Given the description of an element on the screen output the (x, y) to click on. 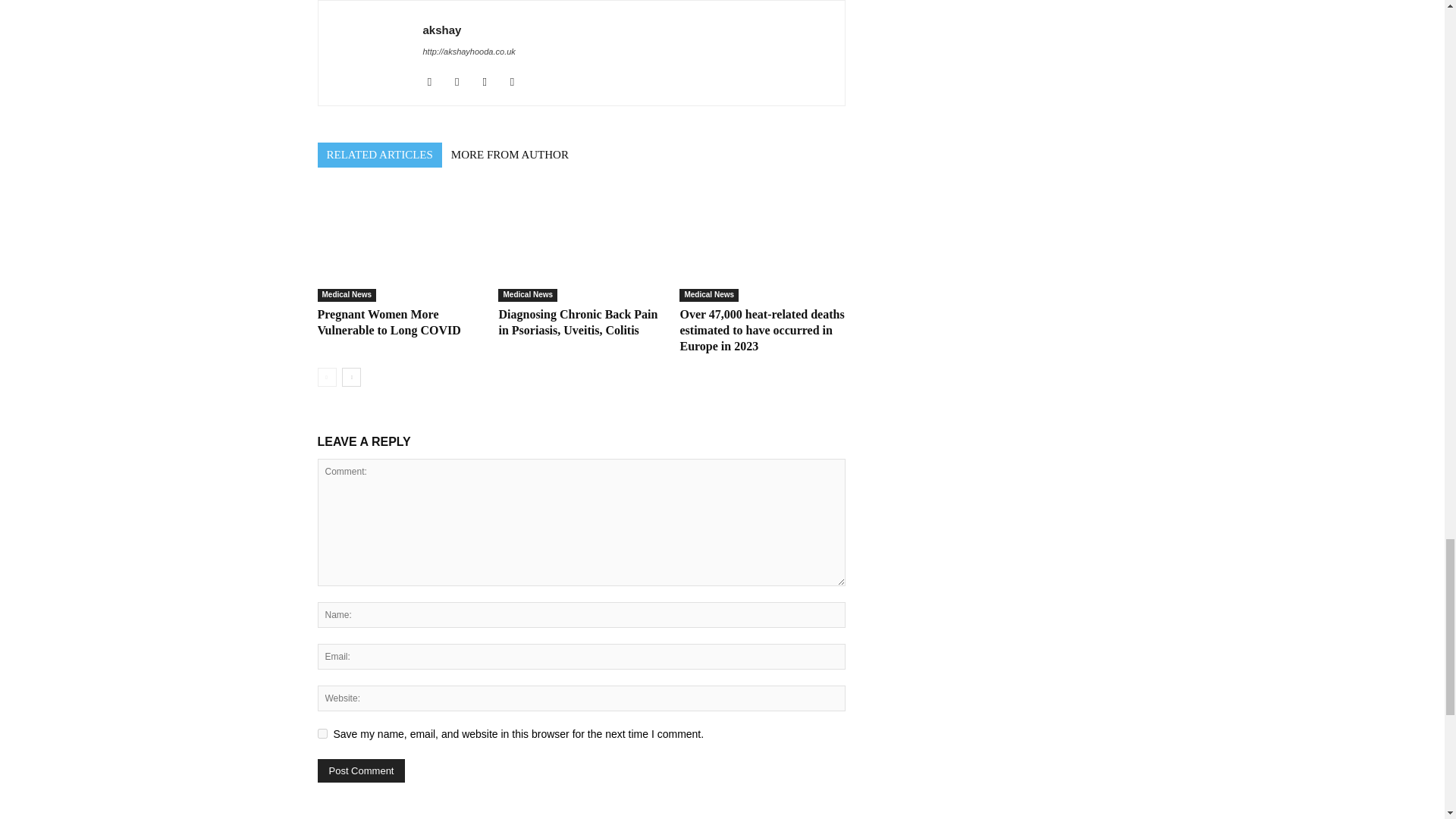
Instagram (462, 81)
Twitter (518, 81)
Post Comment (360, 770)
yes (321, 733)
Linkedin (489, 81)
Facebook (435, 81)
Pregnant Women More Vulnerable to Long COVID (399, 245)
